Given the description of an element on the screen output the (x, y) to click on. 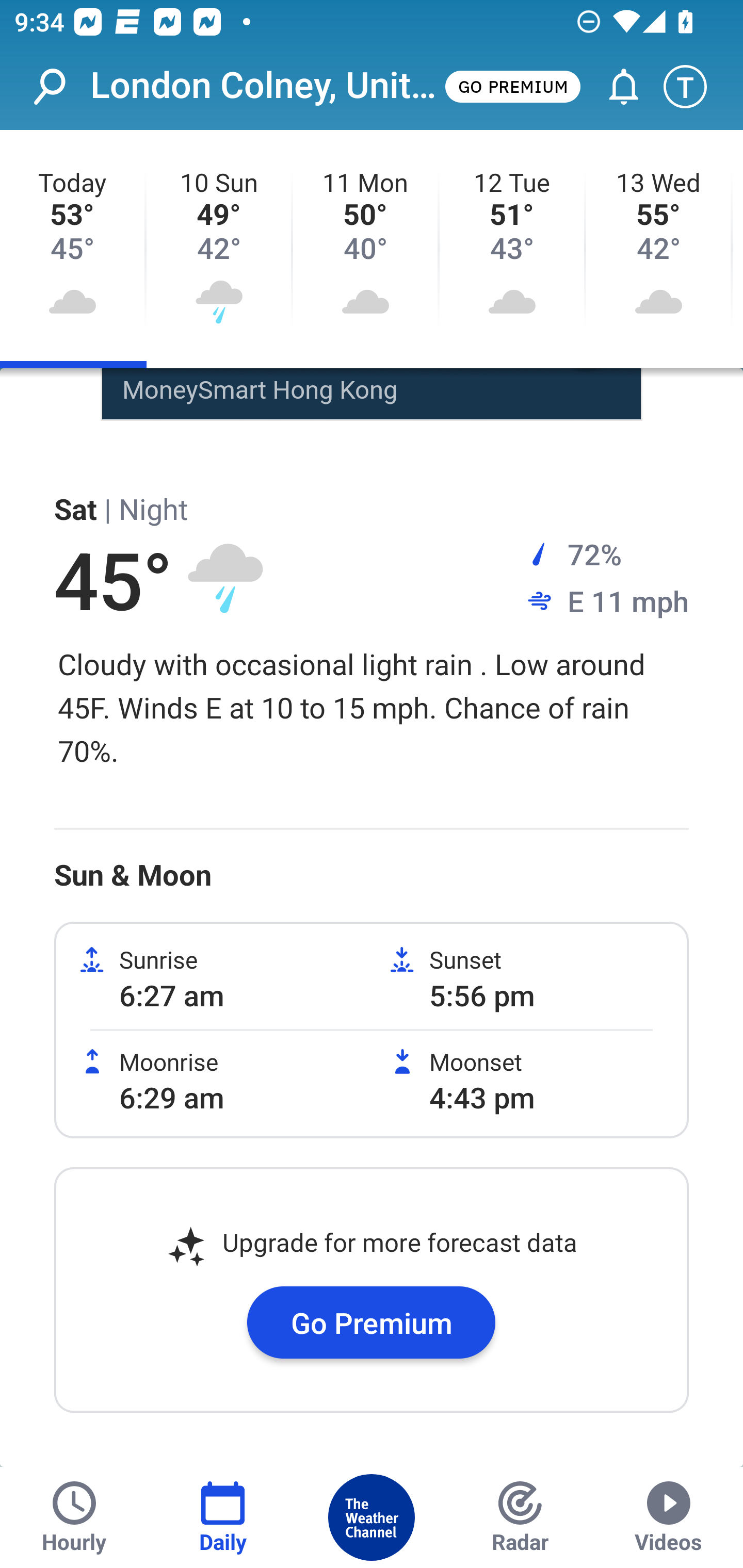
Search (59, 86)
Go to Alerts and Notifications (614, 86)
Setting icon T (694, 86)
London Colney, United Kingdom (265, 85)
GO PREMIUM (512, 85)
MoneySmart Hong Kong (260, 389)
Go Premium (371, 1321)
Hourly Tab Hourly (74, 1517)
Home Tab (371, 1517)
Radar Tab Radar (519, 1517)
Videos Tab Videos (668, 1517)
